Given the description of an element on the screen output the (x, y) to click on. 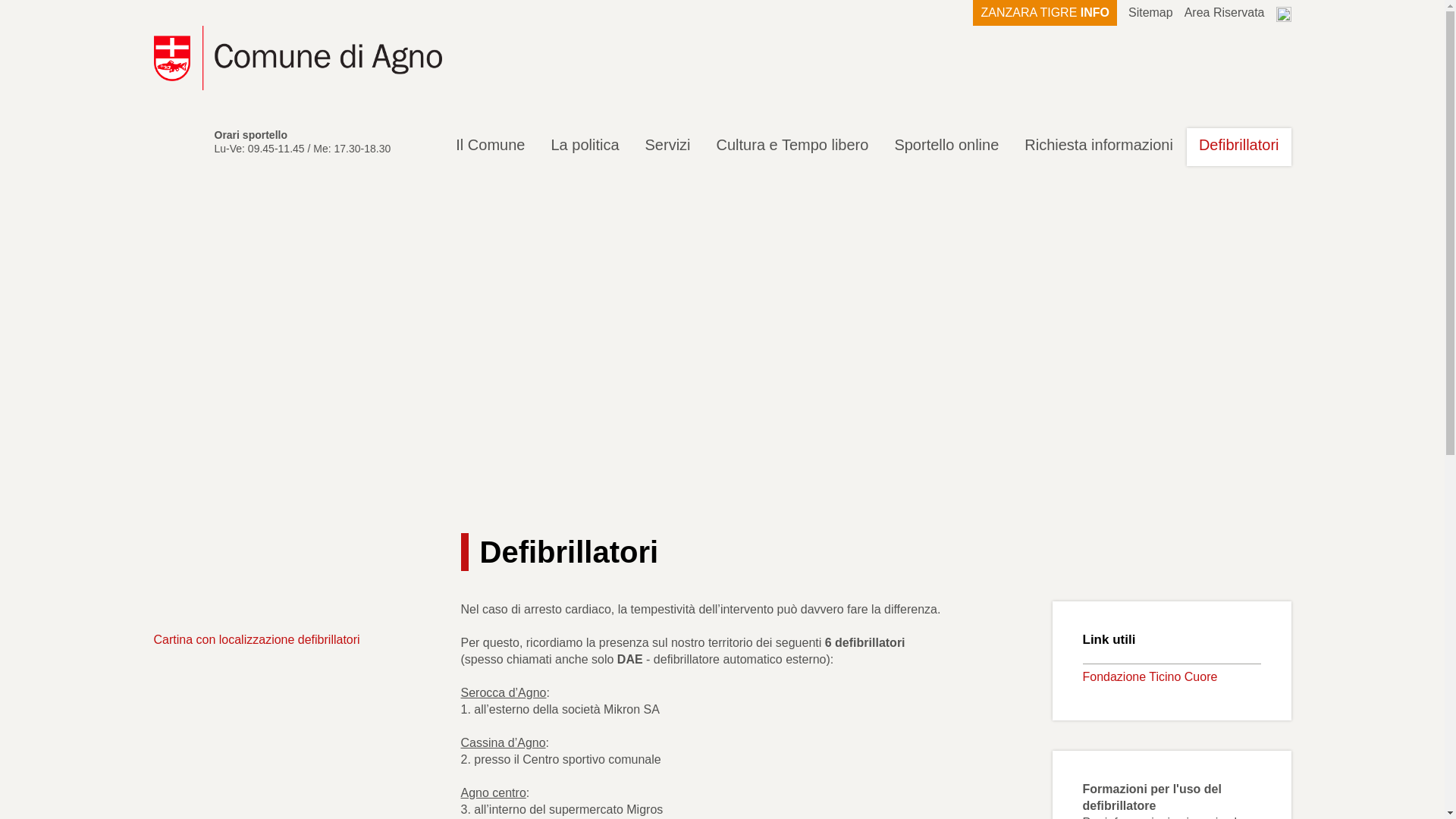
ZANZARA TIGRE INFO Element type: text (1044, 12)
Il Comune Element type: text (489, 147)
Sitemap Element type: text (1150, 12)
Area Riservata Element type: text (1224, 12)
Fondazione Ticino Cuore Element type: text (1149, 676)
Defibrillatori Element type: text (1238, 147)
Richiesta informazioni Element type: text (1098, 147)
Cartina con localizzazione defibrillatori Element type: text (256, 639)
La politica Element type: text (584, 147)
Cultura e Tempo libero Element type: text (792, 147)
Cerca nel sito Element type: hover (1282, 13)
Servizi Element type: text (667, 147)
Sportello online Element type: text (945, 147)
